Given the description of an element on the screen output the (x, y) to click on. 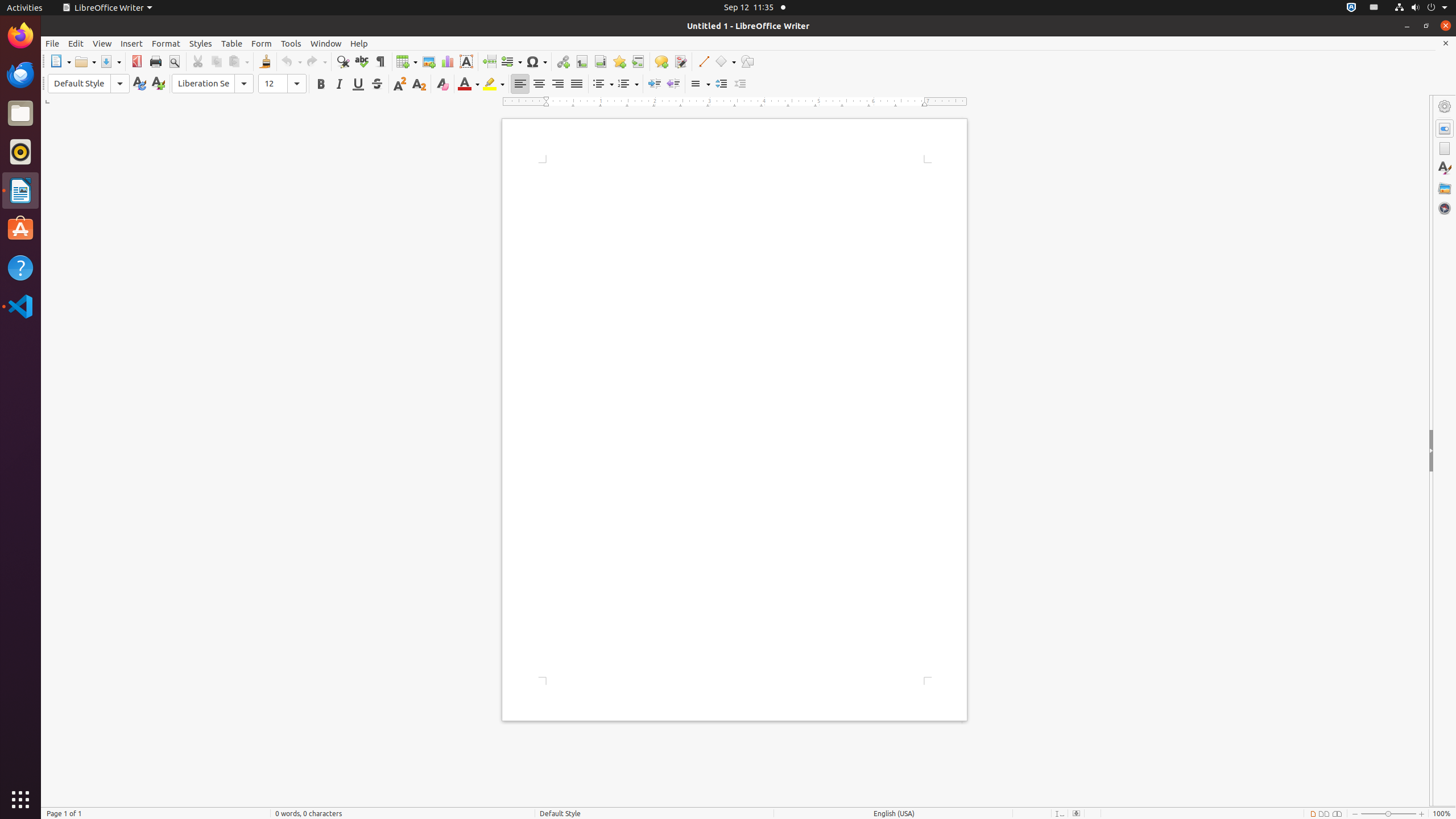
Ubuntu Software Element type: push-button (20, 229)
Numbering Element type: push-button (627, 83)
Find & Replace Element type: toggle-button (342, 61)
Page Element type: radio-button (1444, 148)
View Element type: menu (102, 43)
